Given the description of an element on the screen output the (x, y) to click on. 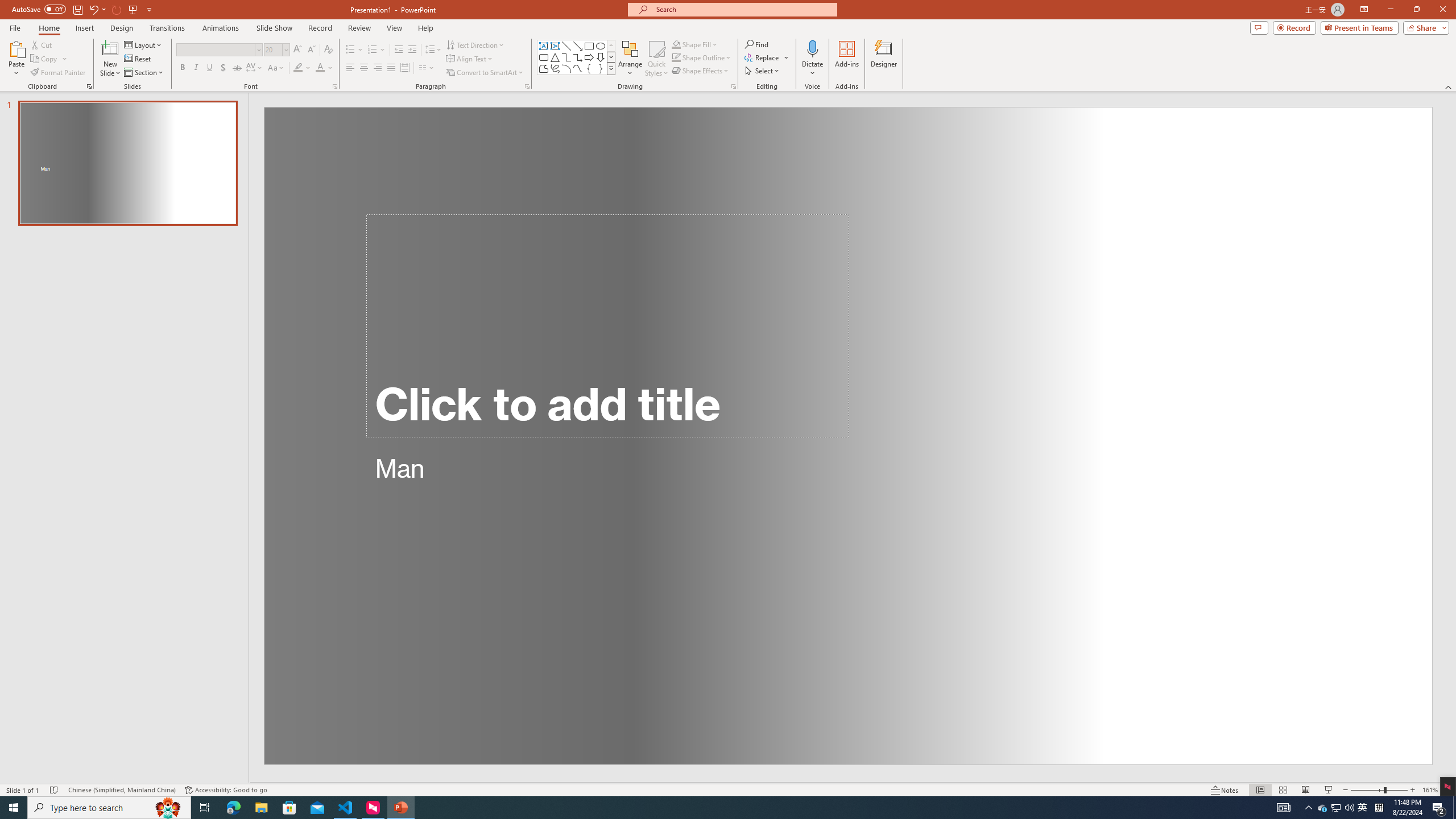
Numbering (376, 49)
Arrow: Down (600, 57)
Reset (138, 58)
Freeform: Shape (543, 68)
Justify (390, 67)
Save (77, 9)
Line (566, 45)
Rectangle (589, 45)
Curve (577, 68)
Clear Formatting (327, 49)
Home (48, 28)
Close (1442, 9)
Office Clipboard... (88, 85)
Align Text (470, 58)
Review (359, 28)
